Given the description of an element on the screen output the (x, y) to click on. 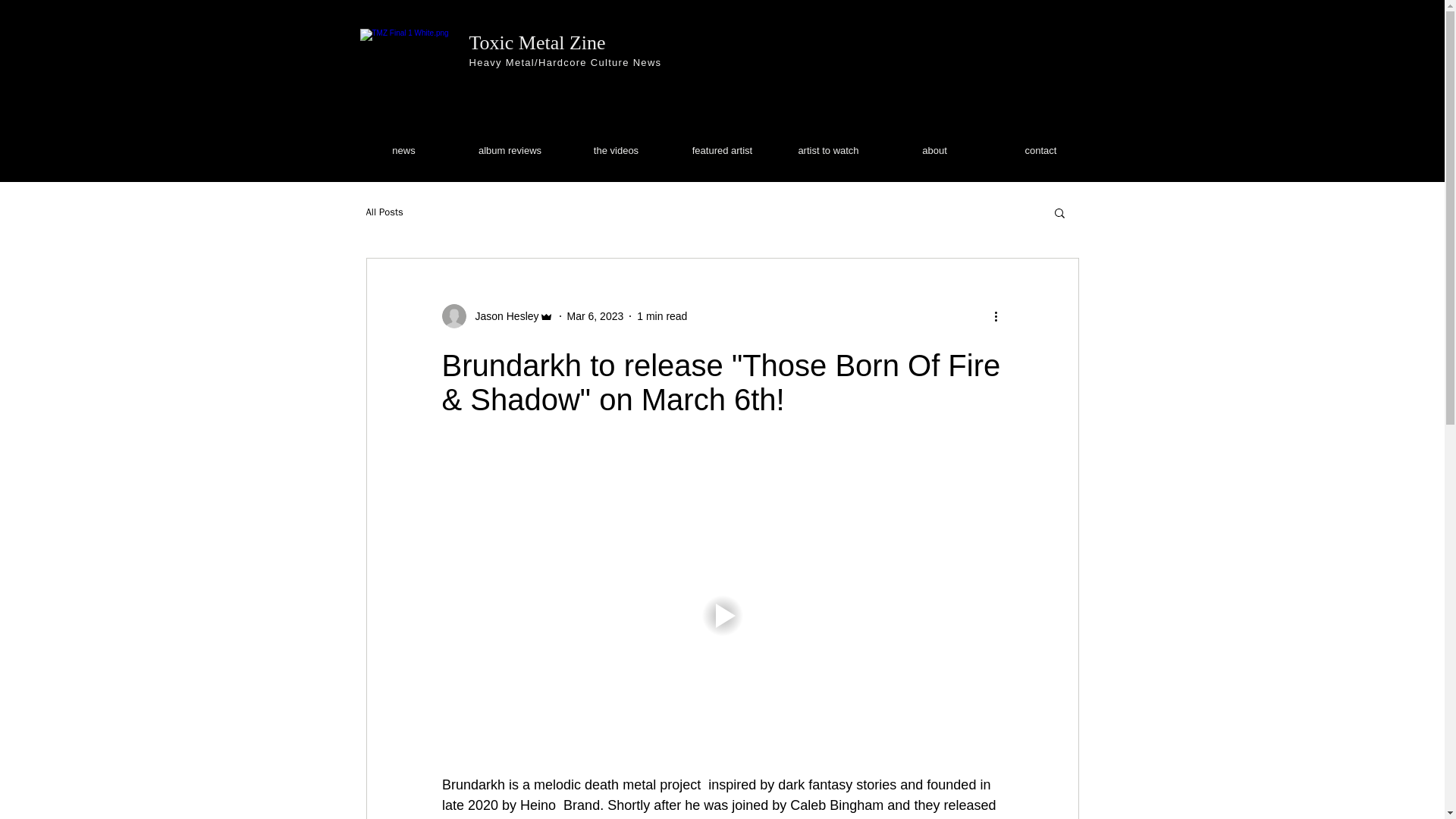
the videos (615, 150)
Jason Hesley (501, 315)
artist to watch (827, 150)
contact (1040, 150)
about (933, 150)
news (403, 150)
All Posts (384, 212)
Toxic Metal Zine (536, 42)
album reviews (509, 150)
featured artist (721, 150)
